Given the description of an element on the screen output the (x, y) to click on. 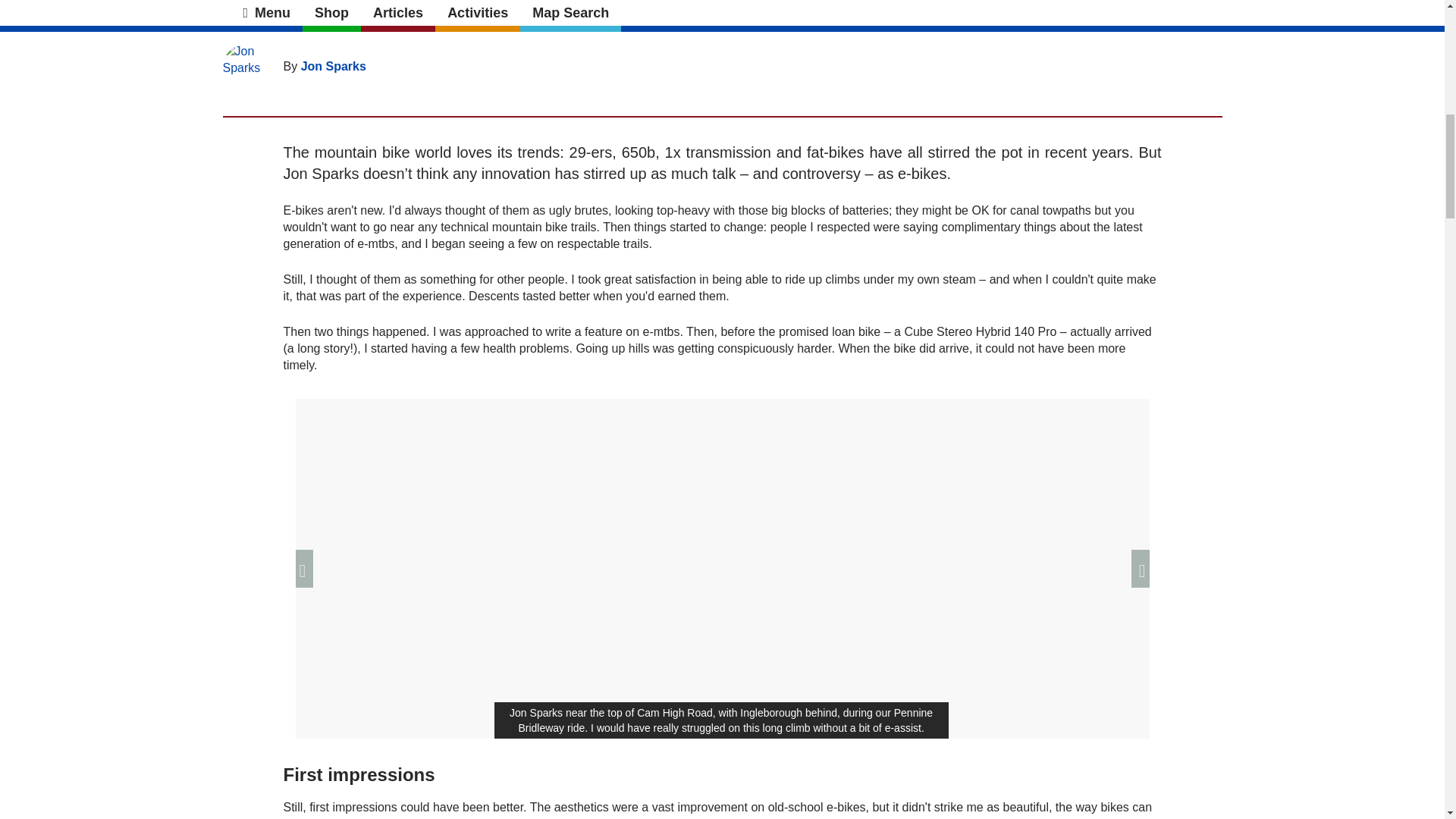
Jon Sparks (333, 65)
